Given the description of an element on the screen output the (x, y) to click on. 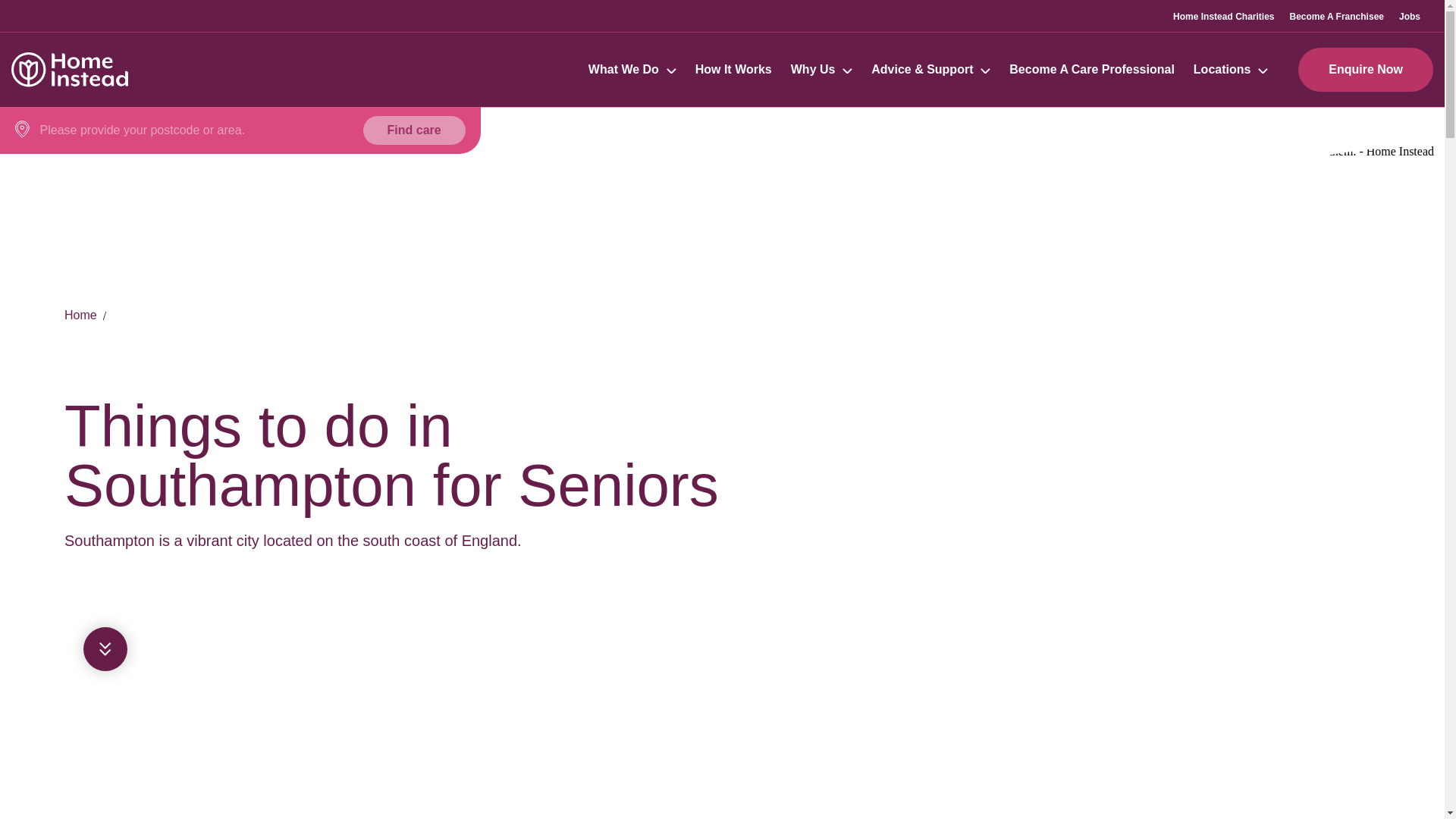
Why Us (820, 69)
Home Instead Charities (1223, 15)
Become A Care Professional (1091, 69)
How It Works (733, 69)
How It Works (733, 69)
What We Do (632, 69)
Why Us (812, 69)
Locations (1230, 69)
Why Us (812, 69)
What We Do (623, 69)
Become A Franchisee (1336, 15)
Locations (1221, 69)
What We Do (623, 69)
Jobs (1410, 15)
